Given the description of an element on the screen output the (x, y) to click on. 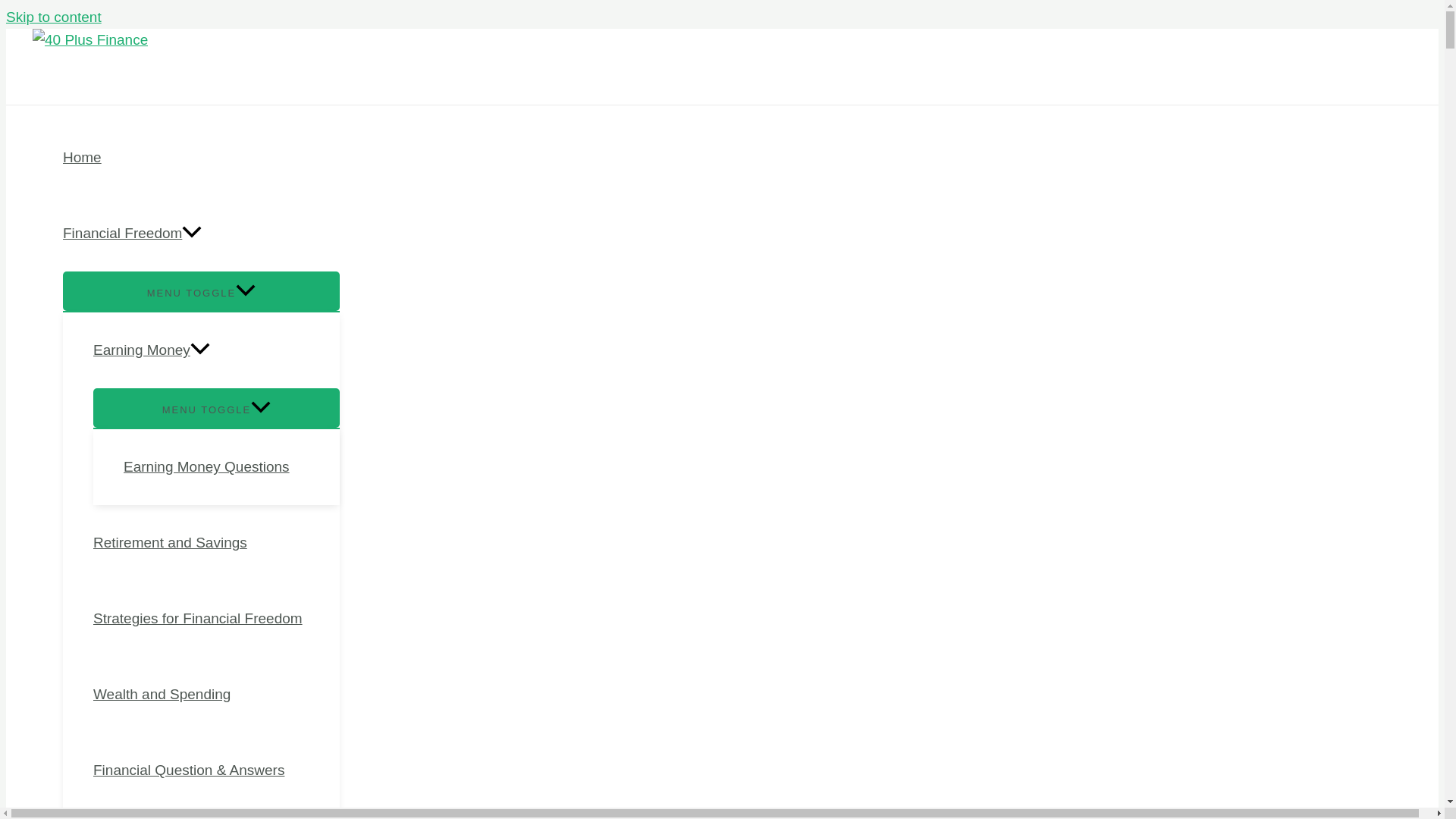
Wealth and Spending (216, 694)
Financial Freedom (200, 233)
Skip to content (53, 17)
MENU TOGGLE (216, 407)
Strategies for Financial Freedom (216, 618)
Earning Money (216, 350)
Home (200, 157)
MENU TOGGLE (200, 291)
Skip to content (53, 17)
Beliefs About Money (216, 813)
